Given the description of an element on the screen output the (x, y) to click on. 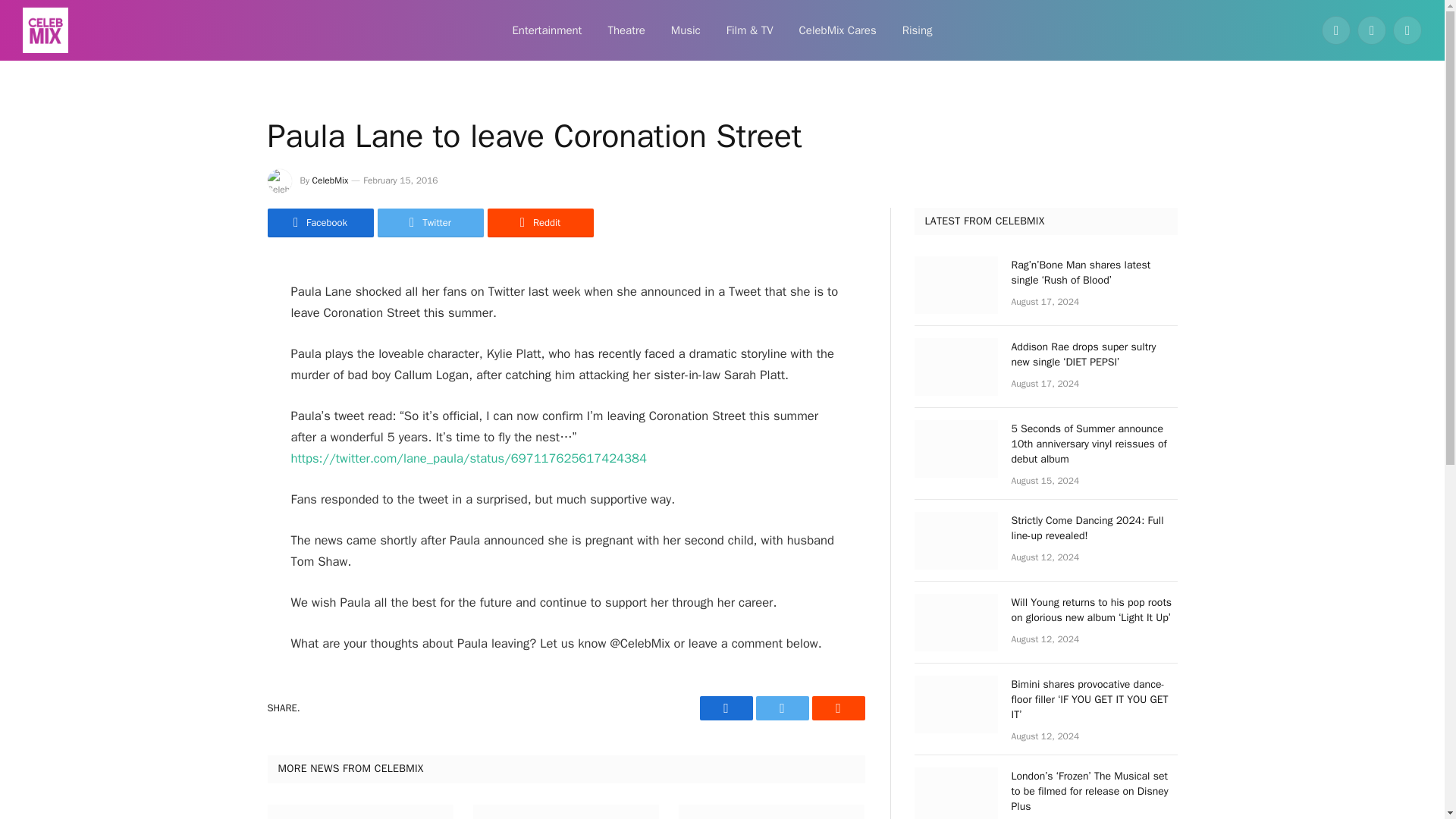
Share on Reddit (539, 222)
Instagram (1407, 30)
CelebMix Cares (837, 30)
Share on Facebook (319, 222)
Twitter (430, 222)
Share on Facebook (725, 708)
Rising (916, 30)
Posts by CelebMix (331, 180)
Facebook (725, 708)
Facebook (1336, 30)
